Given the description of an element on the screen output the (x, y) to click on. 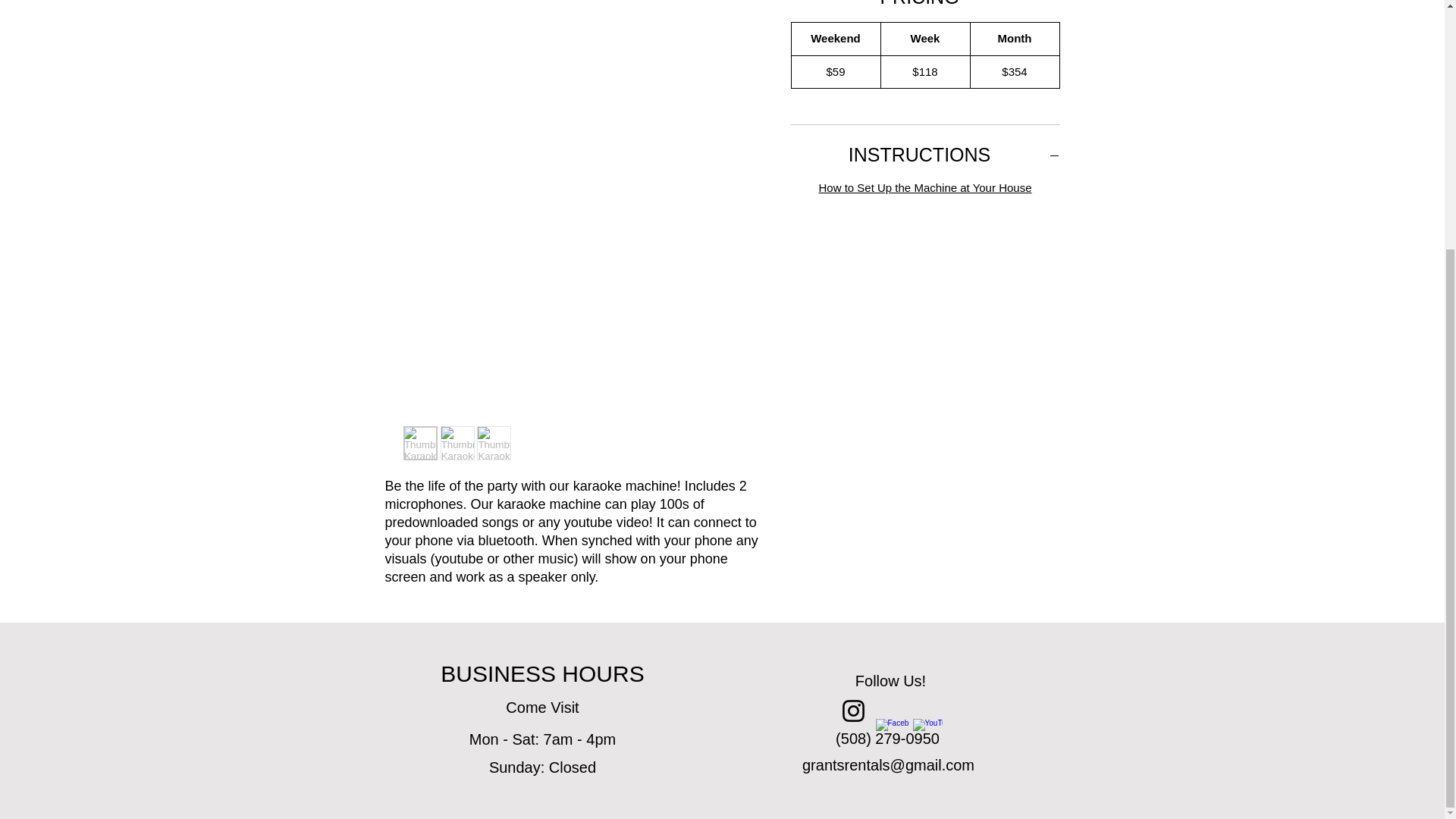
INSTRUCTIONS (924, 155)
PRICING (924, 4)
How to Set Up the Machine at Your House (924, 187)
